Given the description of an element on the screen output the (x, y) to click on. 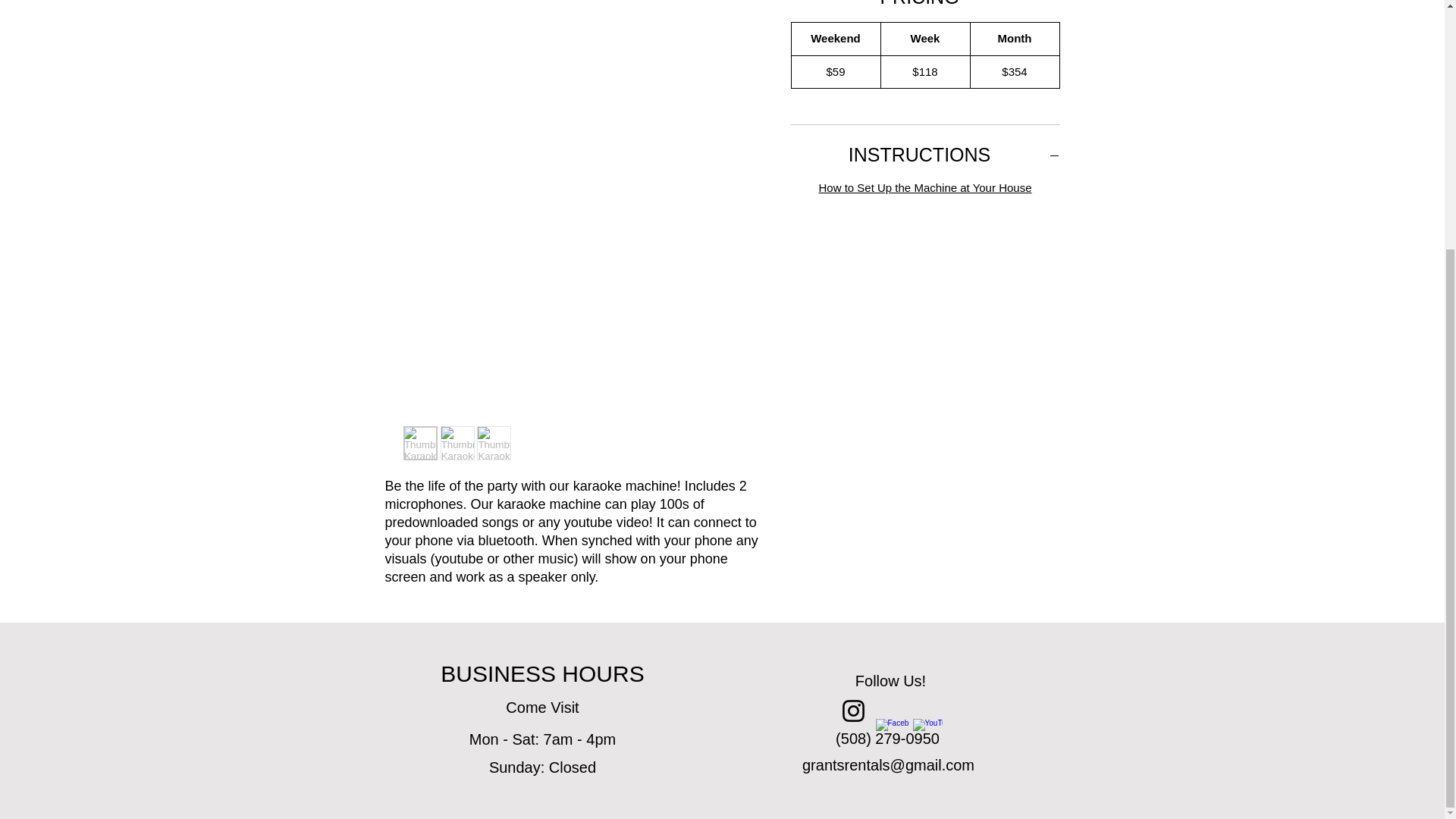
INSTRUCTIONS (924, 155)
PRICING (924, 4)
How to Set Up the Machine at Your House (924, 187)
